Given the description of an element on the screen output the (x, y) to click on. 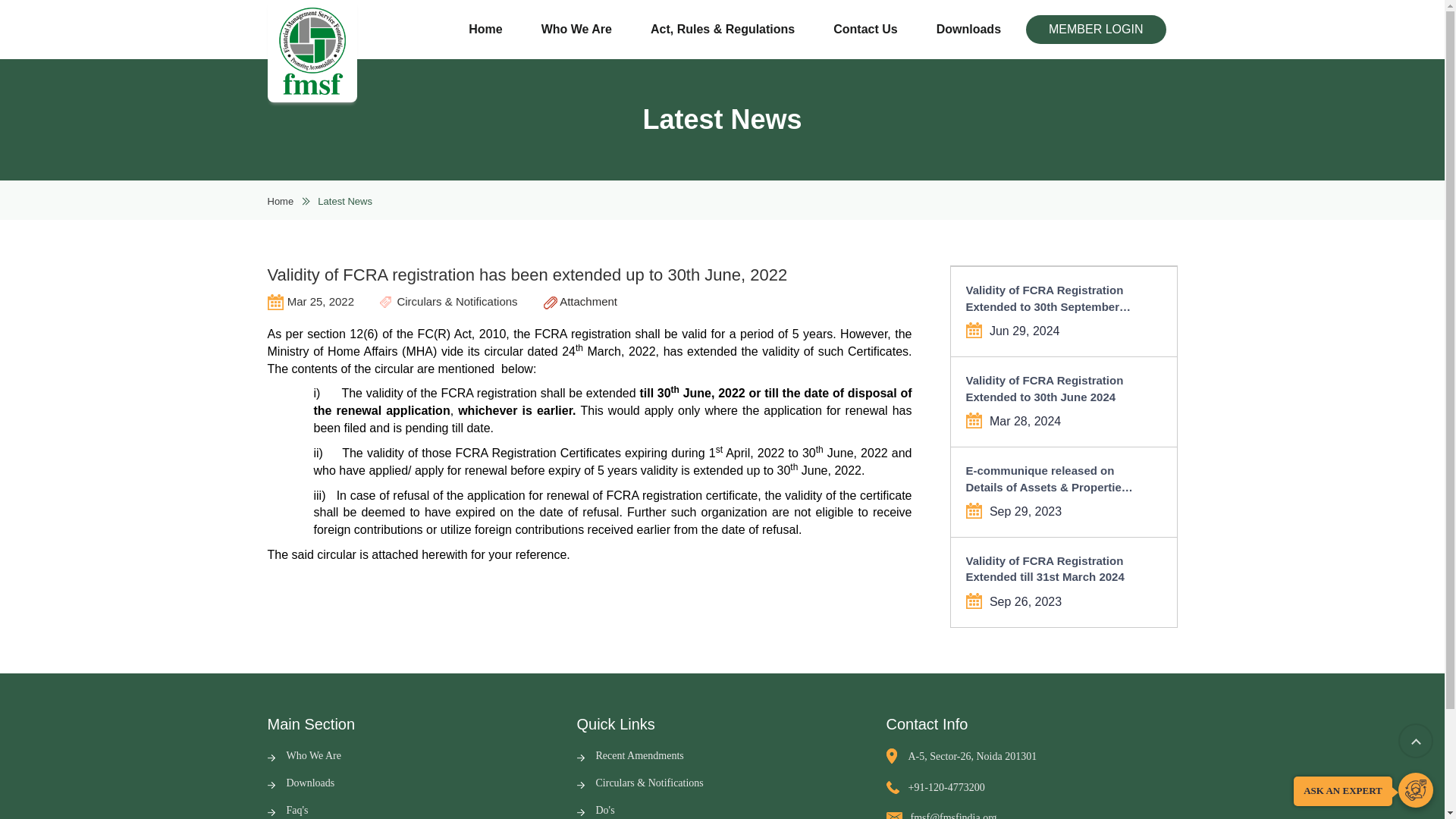
Downloads (300, 782)
Validity of FCRA Registration Extended till 31st March 2024 (1052, 568)
Downloads (968, 29)
Home (484, 29)
Home (280, 201)
Who We Are (576, 29)
Ask an Expert (1414, 790)
Validity of FCRA Registration Extended to 30th June 2024 (1052, 388)
MEMBER LOGIN (1096, 29)
Contact Us (865, 29)
Recent Amendments (629, 755)
Attachment (580, 300)
Who We Are (303, 755)
Support (1415, 789)
